Given the description of an element on the screen output the (x, y) to click on. 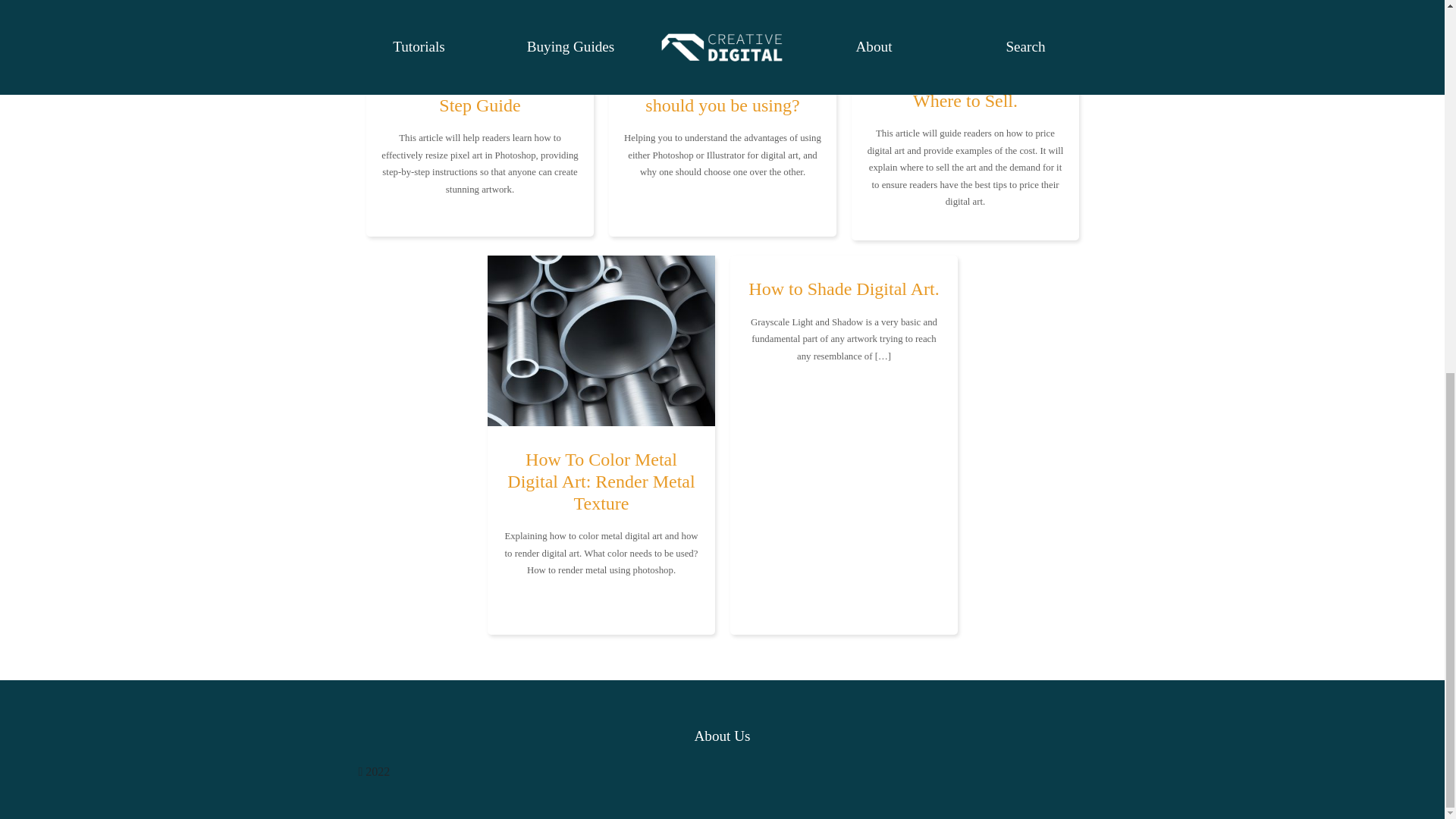
About Us (721, 736)
